Given the description of an element on the screen output the (x, y) to click on. 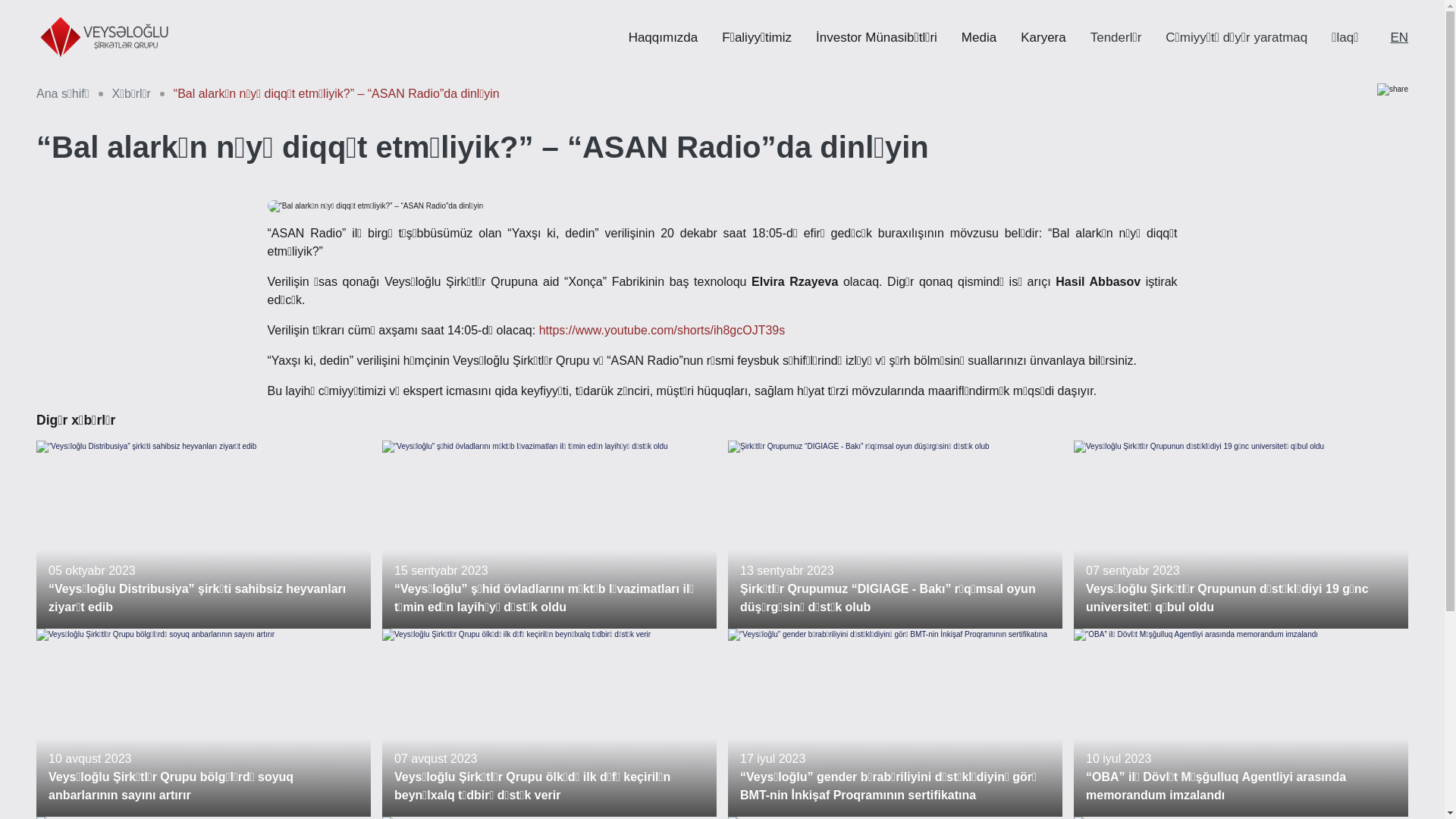
Karyera Element type: text (1043, 37)
Media Element type: text (978, 37)
EN Element type: text (1399, 37)
https://www.youtube.com/shorts/ih8gcOJT39s Element type: text (662, 329)
